Given the description of an element on the screen output the (x, y) to click on. 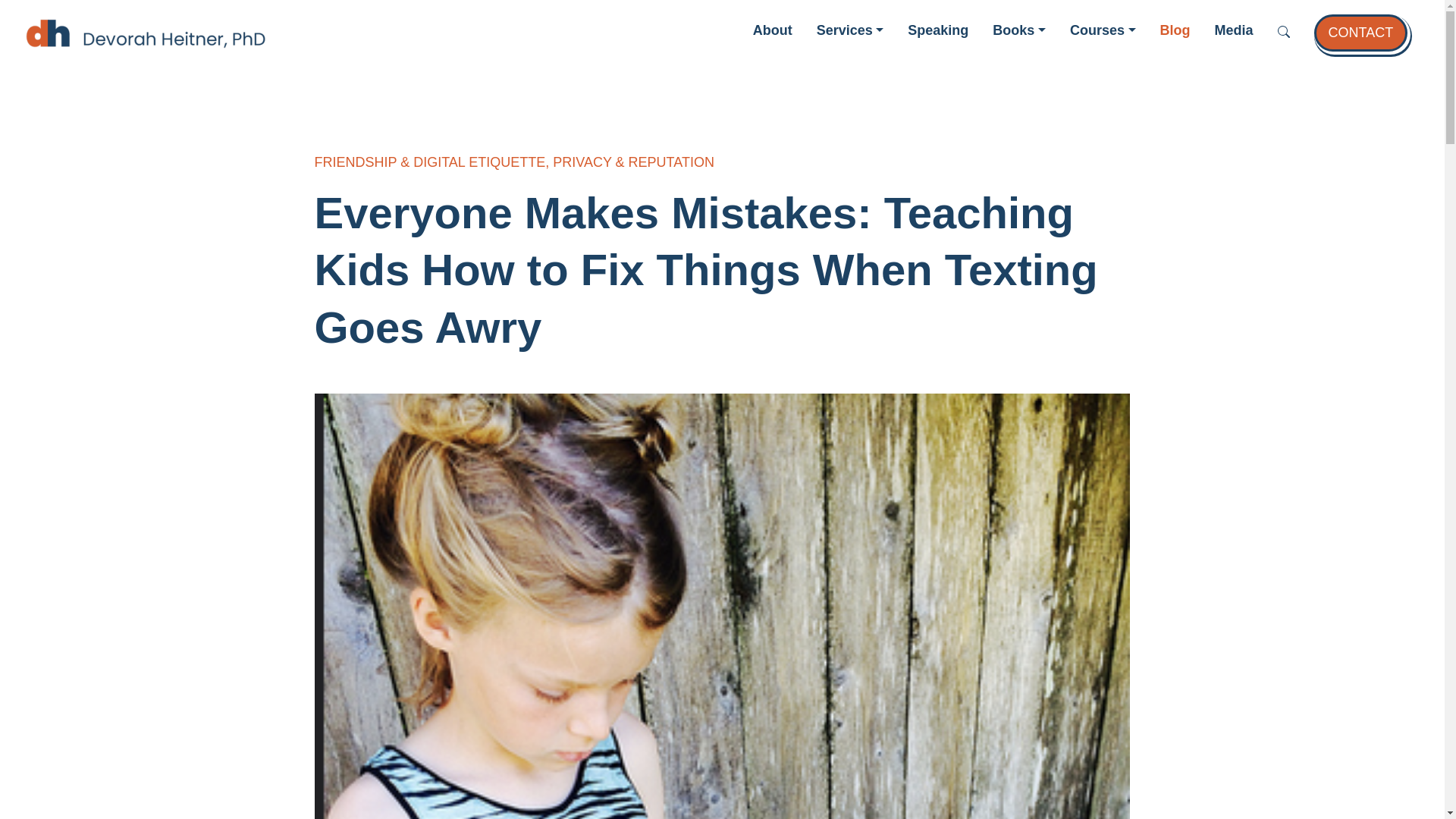
About (771, 30)
Services (849, 30)
Courses (1102, 30)
Media (1233, 30)
Speaking (937, 30)
Books (1019, 30)
CONTACT (1360, 32)
Blog (1175, 30)
